Given the description of an element on the screen output the (x, y) to click on. 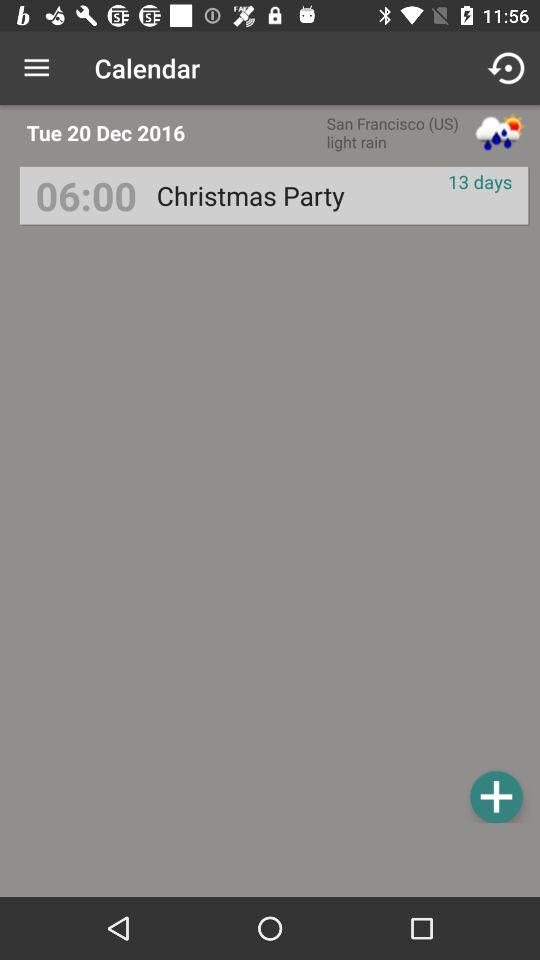
launch the item at the bottom right corner (496, 796)
